Given the description of an element on the screen output the (x, y) to click on. 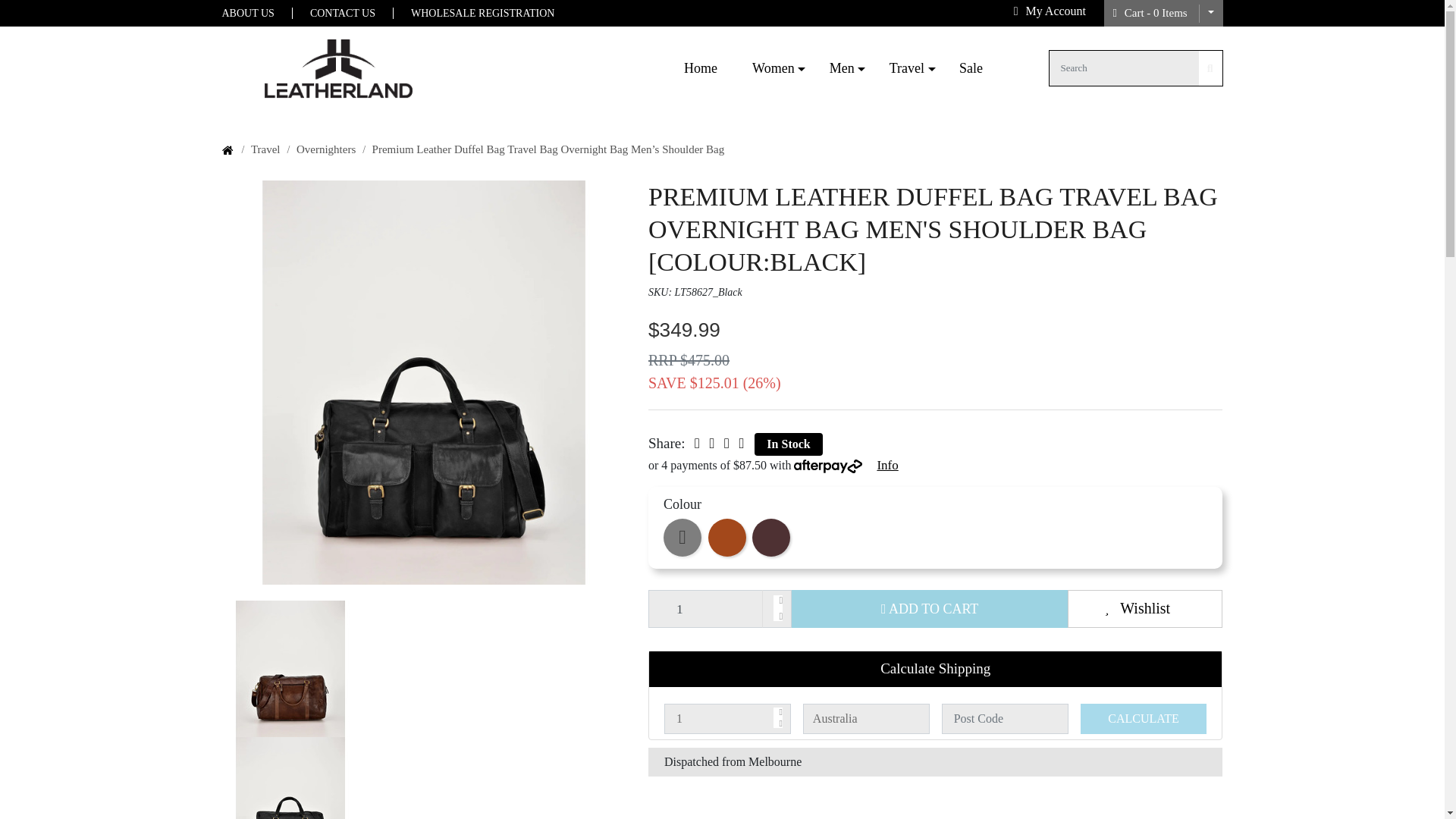
Add To Wishlist (1145, 608)
1 (726, 718)
Leatherland (337, 66)
CONTACT US (342, 12)
Cart - 0 Items (1149, 13)
Leatherland (700, 68)
Chocolate (771, 537)
1 (719, 608)
ABOUT US (256, 12)
Calculate (1143, 718)
